Given the description of an element on the screen output the (x, y) to click on. 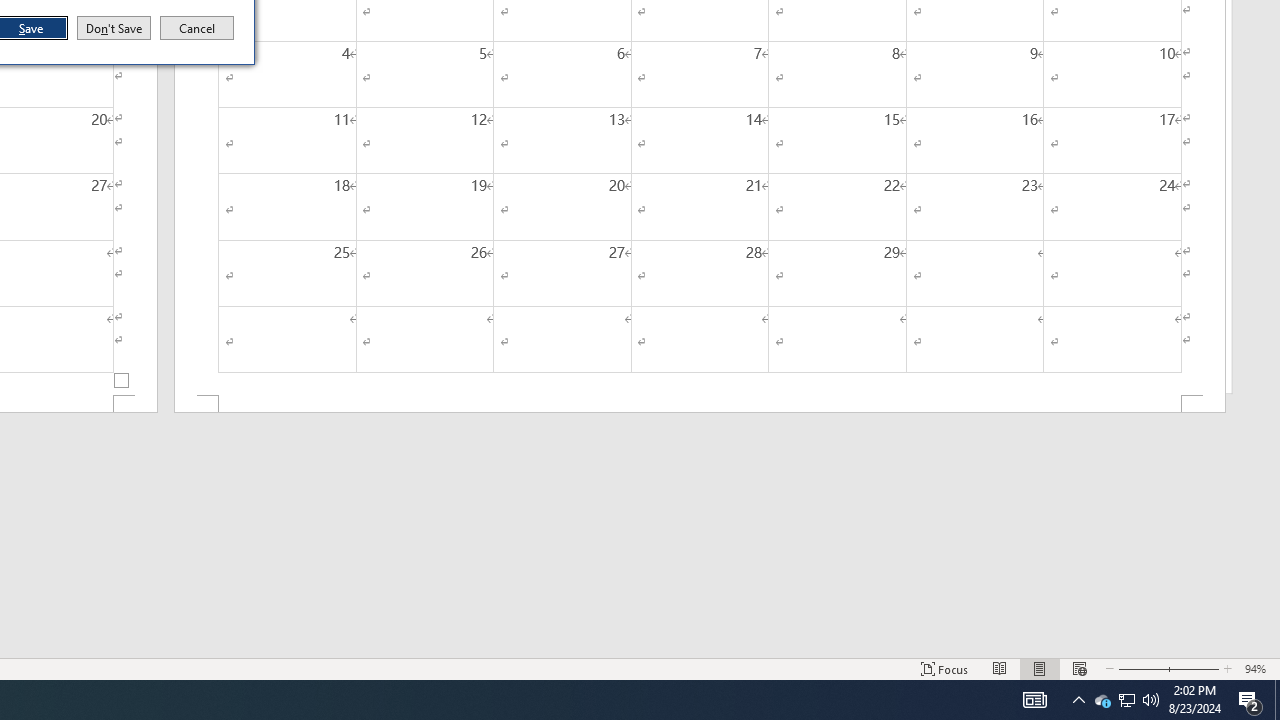
Cancel (197, 27)
Don't Save (113, 27)
